Given the description of an element on the screen output the (x, y) to click on. 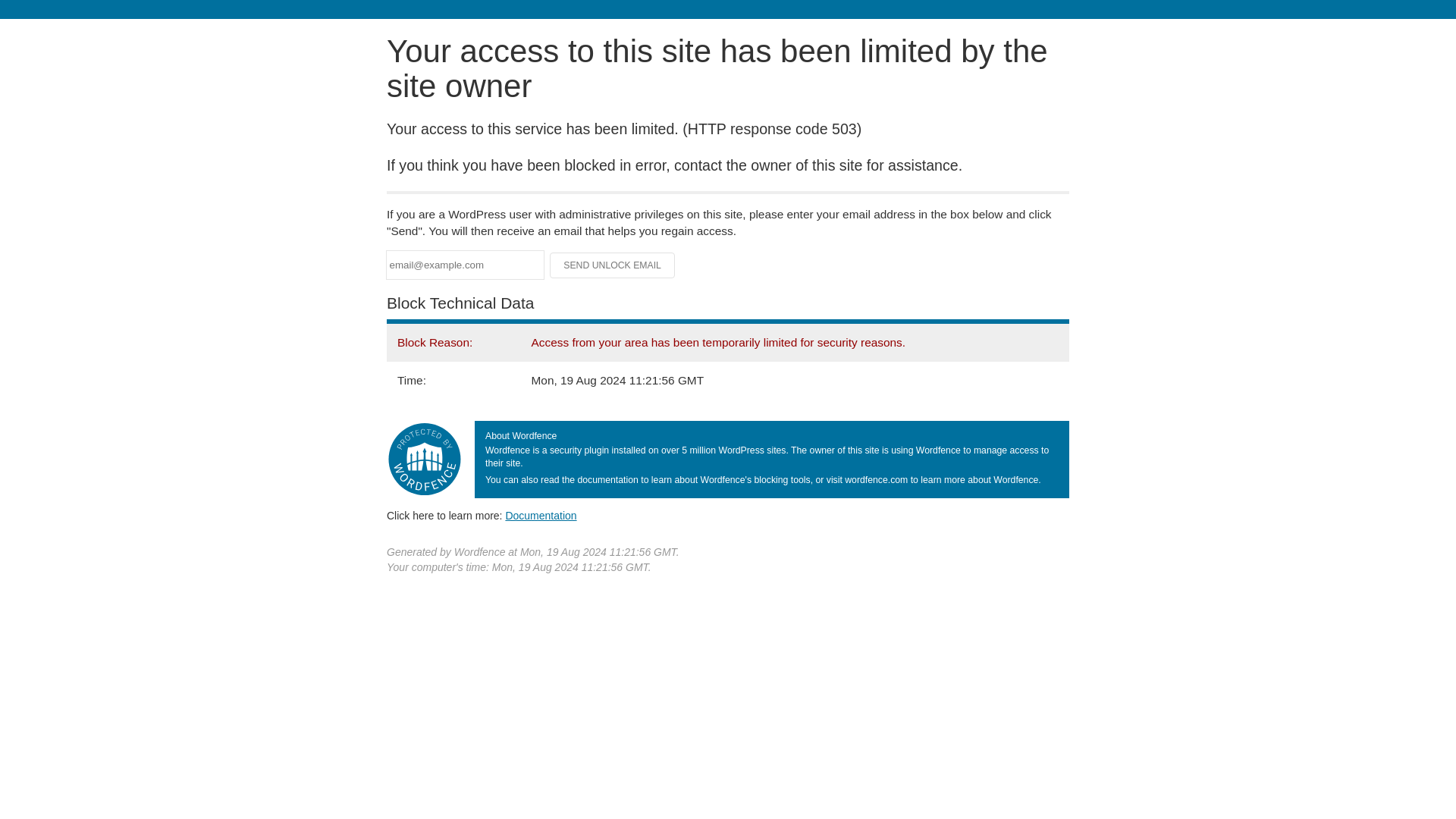
Send Unlock Email (612, 265)
Documentation (540, 515)
Send Unlock Email (612, 265)
